Given the description of an element on the screen output the (x, y) to click on. 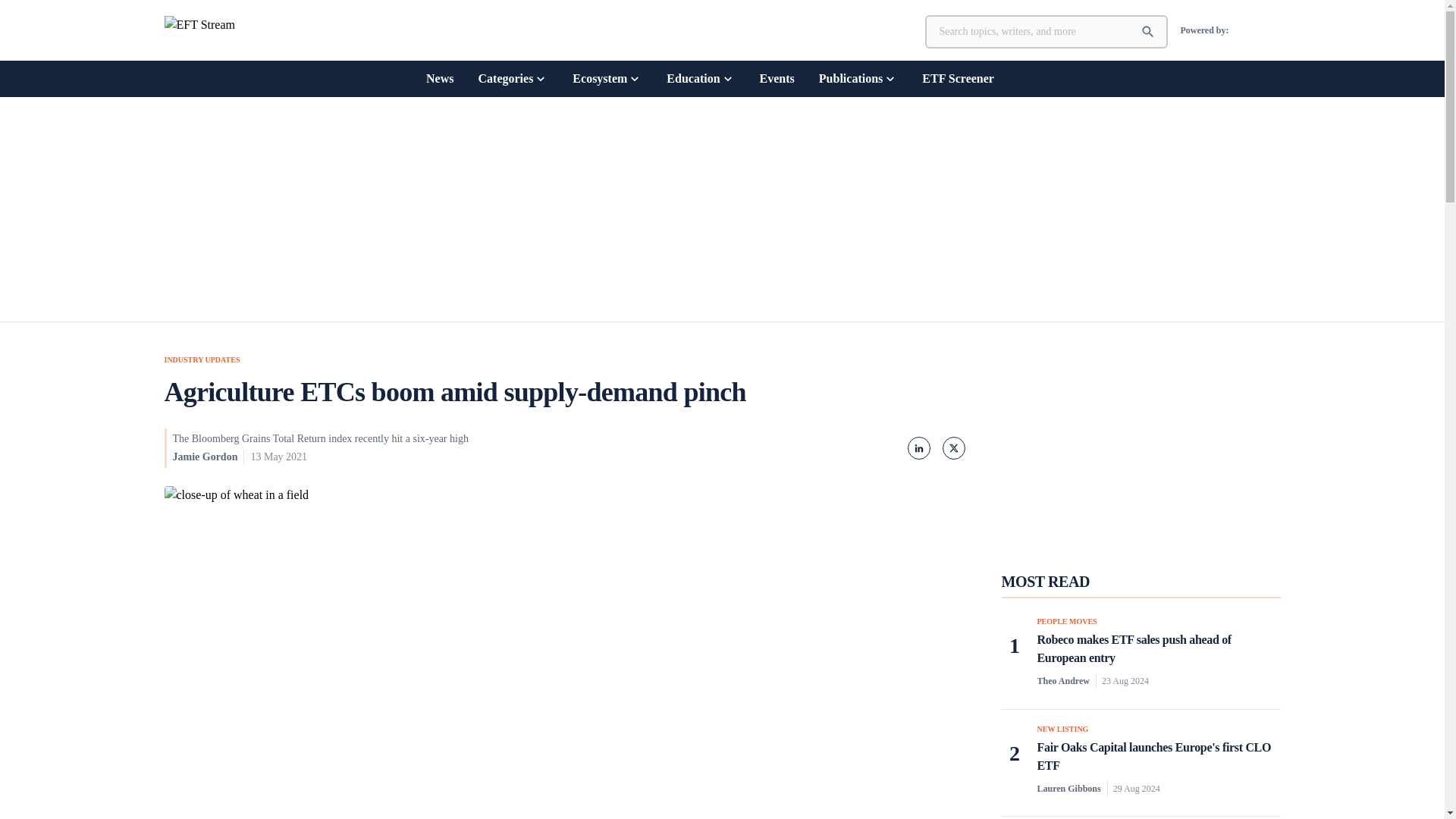
ETF Screener (957, 78)
Events (777, 78)
News (439, 78)
Education (700, 78)
Jamie Gordon (205, 456)
